Given the description of an element on the screen output the (x, y) to click on. 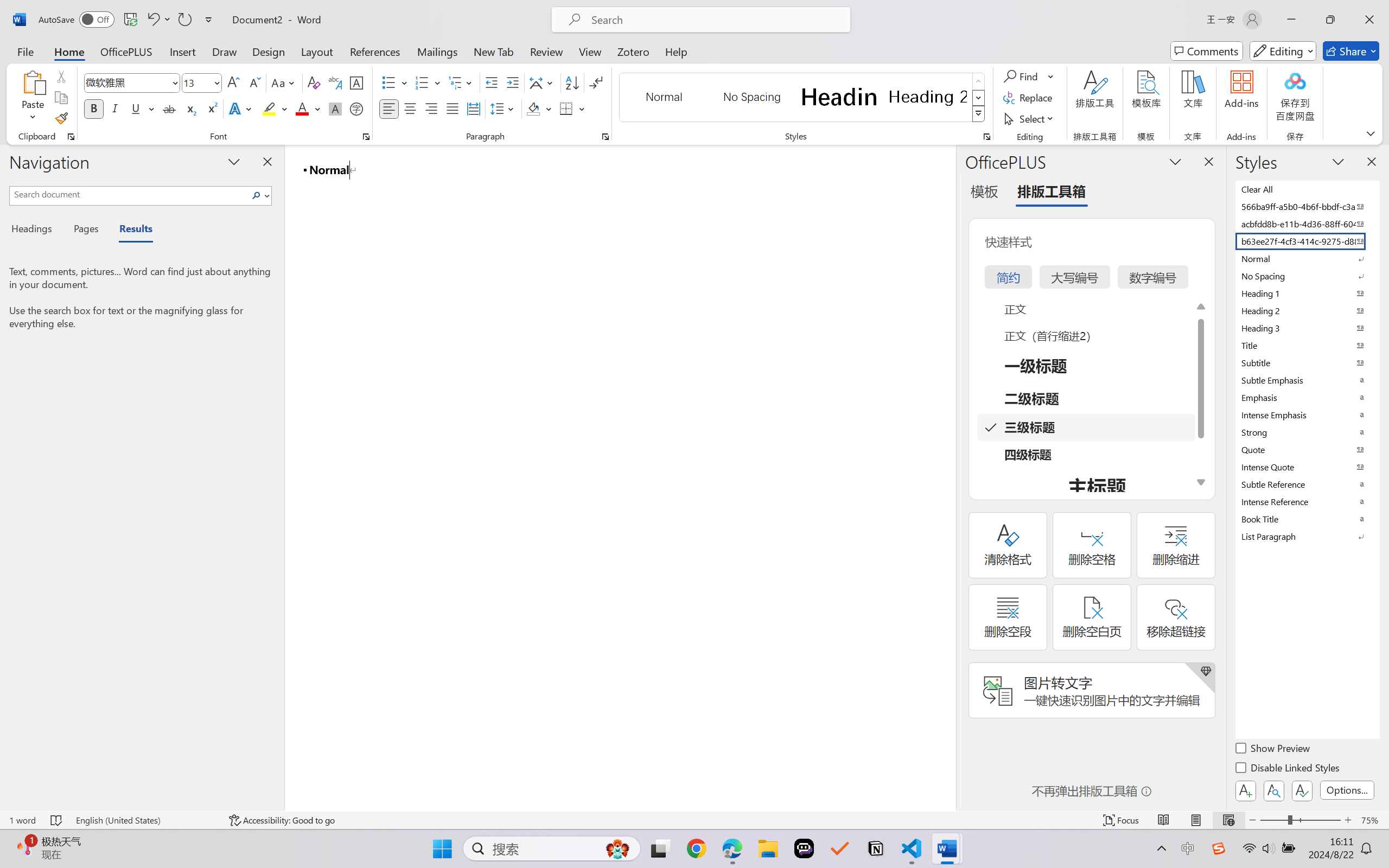
Intense Emphasis (1306, 414)
Headings (35, 229)
Book Title (1306, 518)
Shading RGB(0, 0, 0) (533, 108)
Mailings (437, 51)
Customize Quick Access Toolbar (208, 19)
Review (546, 51)
Character Shading (334, 108)
